Given the description of an element on the screen output the (x, y) to click on. 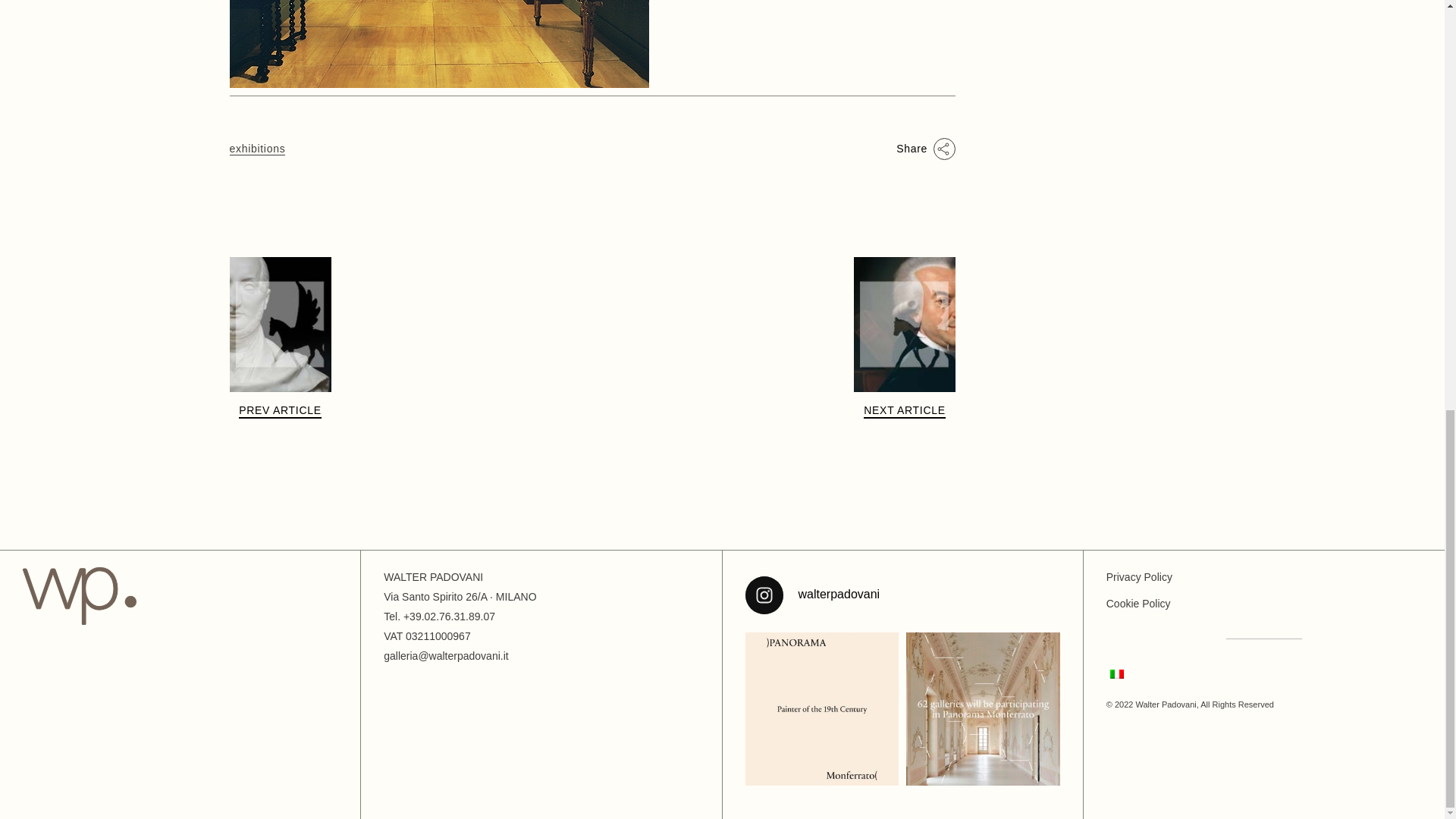
Cookie Policy  (1138, 603)
exhibitions (256, 148)
Italian (1116, 673)
Privacy Policy  (1139, 576)
Share (925, 148)
